Given the description of an element on the screen output the (x, y) to click on. 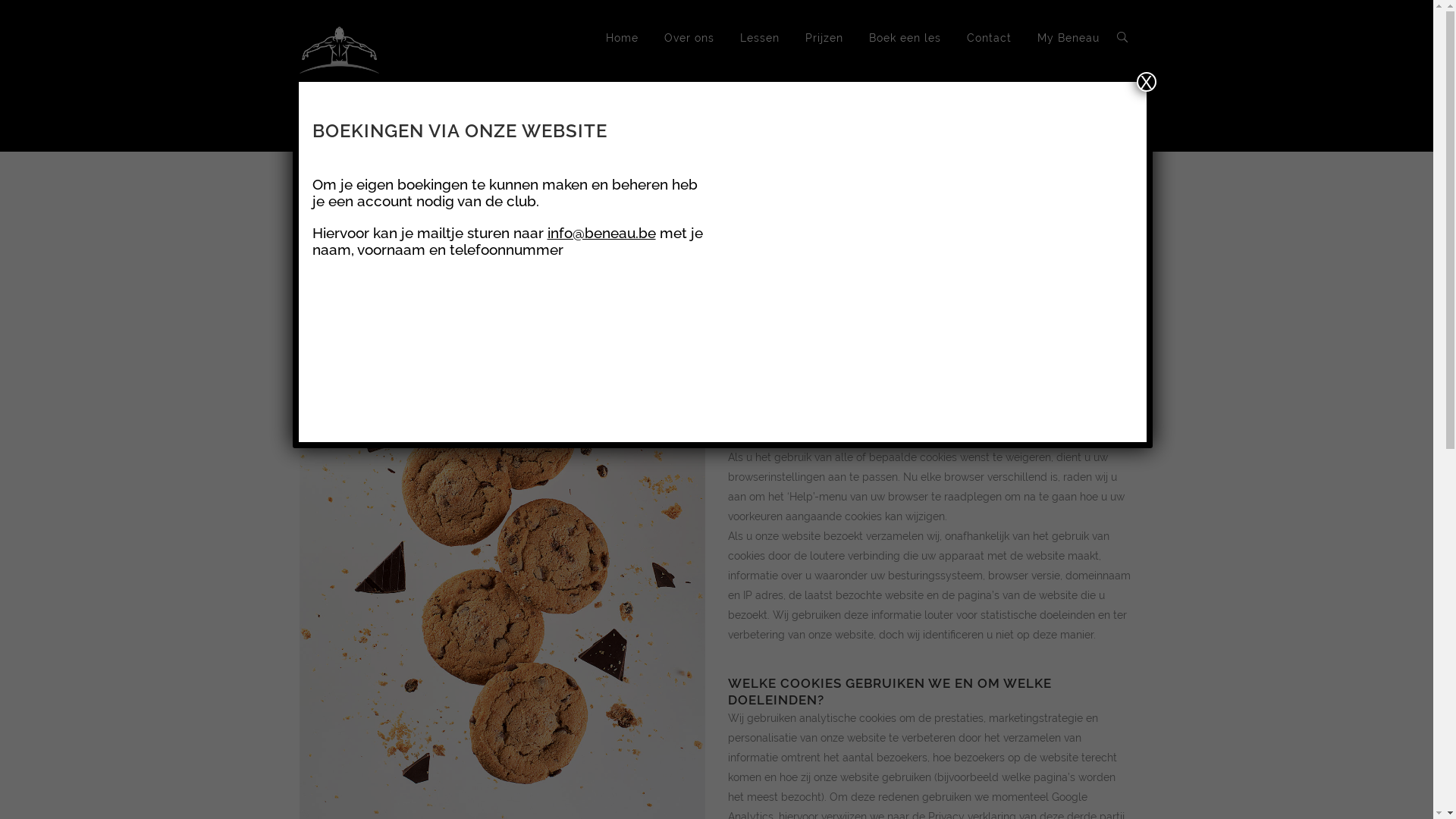
benoitenkatrijn Element type: hover (933, 261)
Boek een les Element type: text (904, 37)
X Element type: text (1145, 81)
Home Element type: text (622, 37)
My Beneau Element type: text (1068, 37)
Prijzen Element type: text (824, 37)
Lessen Element type: text (759, 37)
Over ons Element type: text (689, 37)
Contact Element type: text (988, 37)
info@beneau.be Element type: text (601, 232)
